Given the description of an element on the screen output the (x, y) to click on. 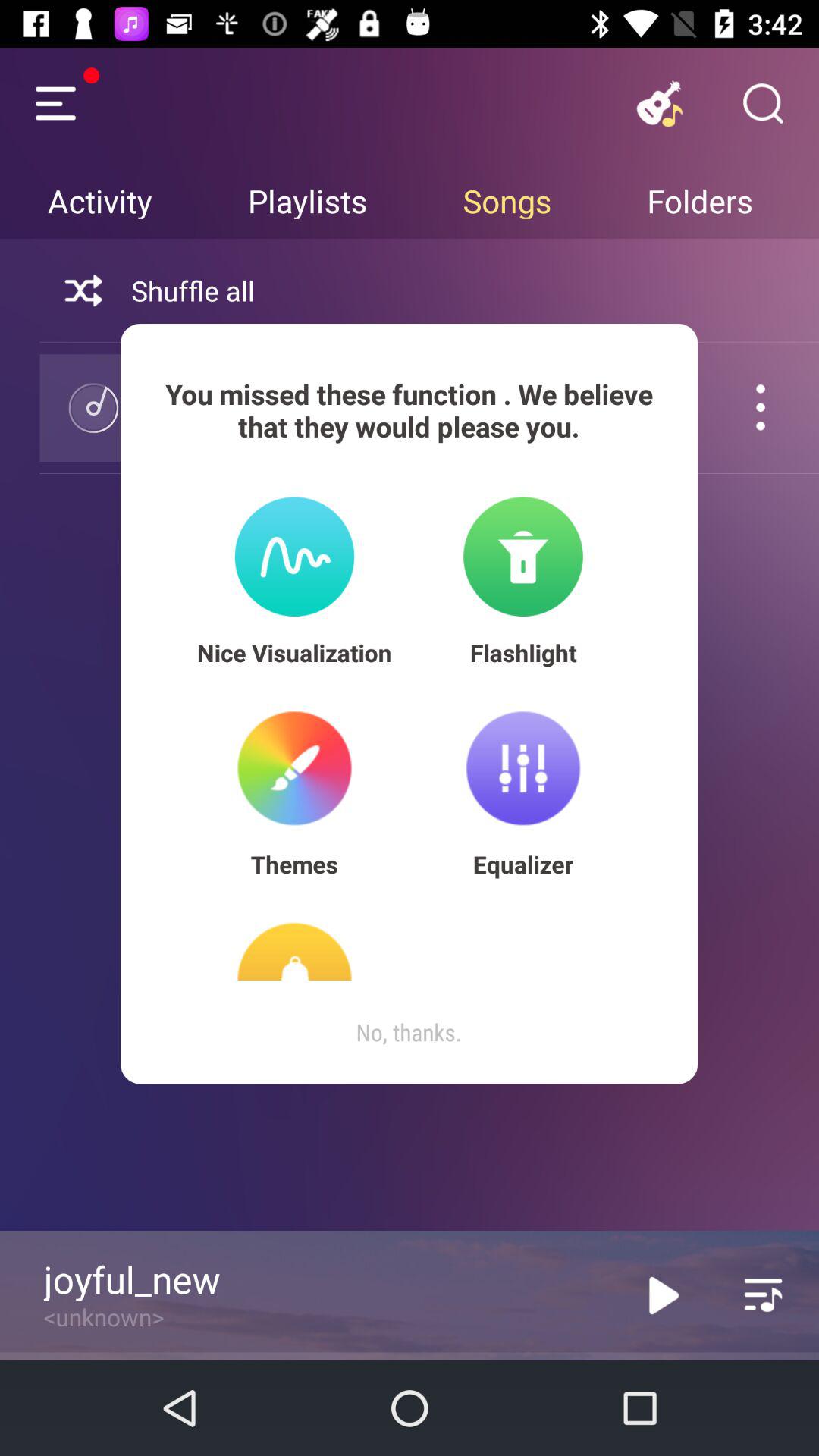
press themes app (294, 864)
